Given the description of an element on the screen output the (x, y) to click on. 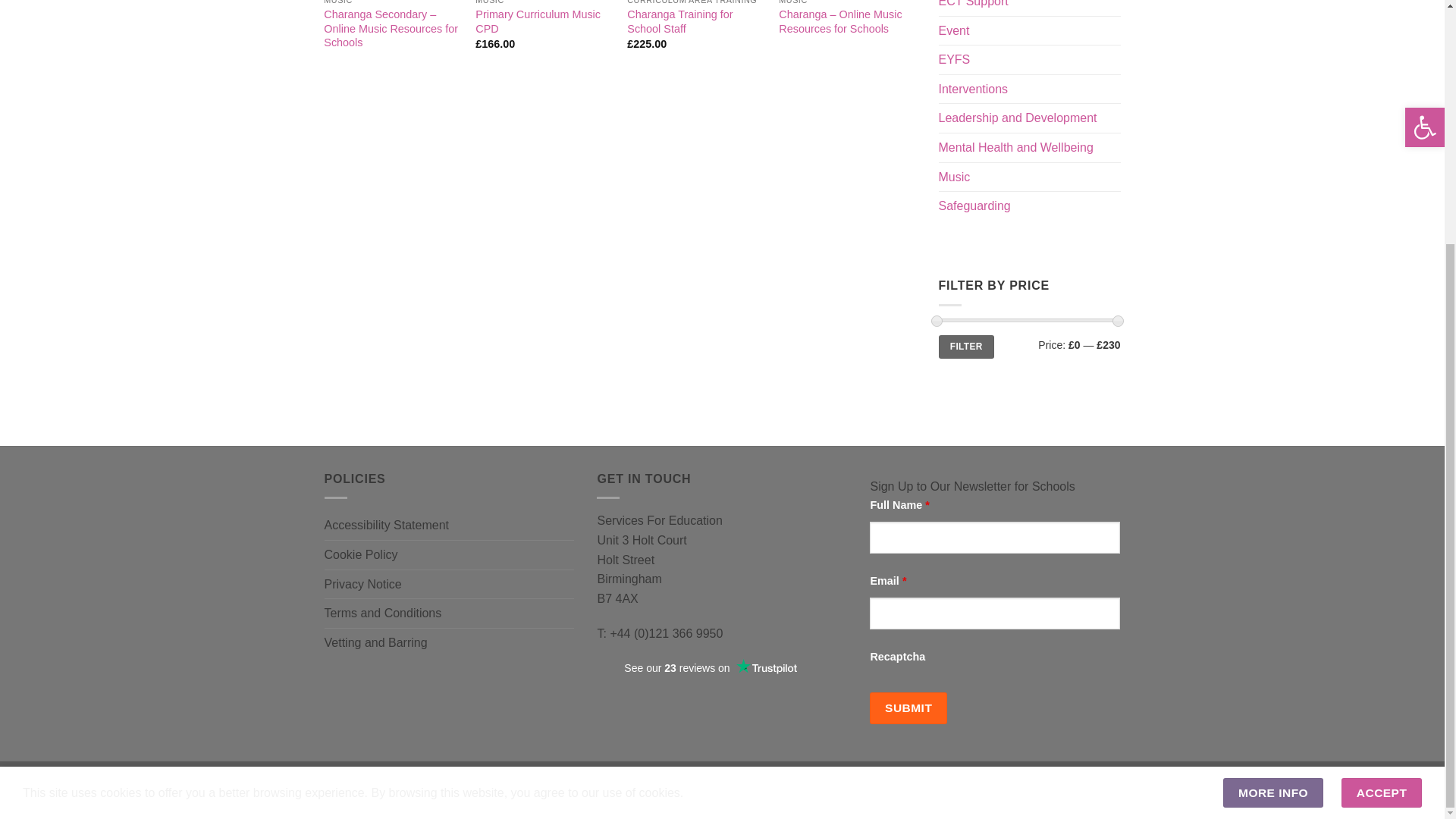
Customer reviews powered by Trustpilot (710, 668)
Submit (907, 707)
